Given the description of an element on the screen output the (x, y) to click on. 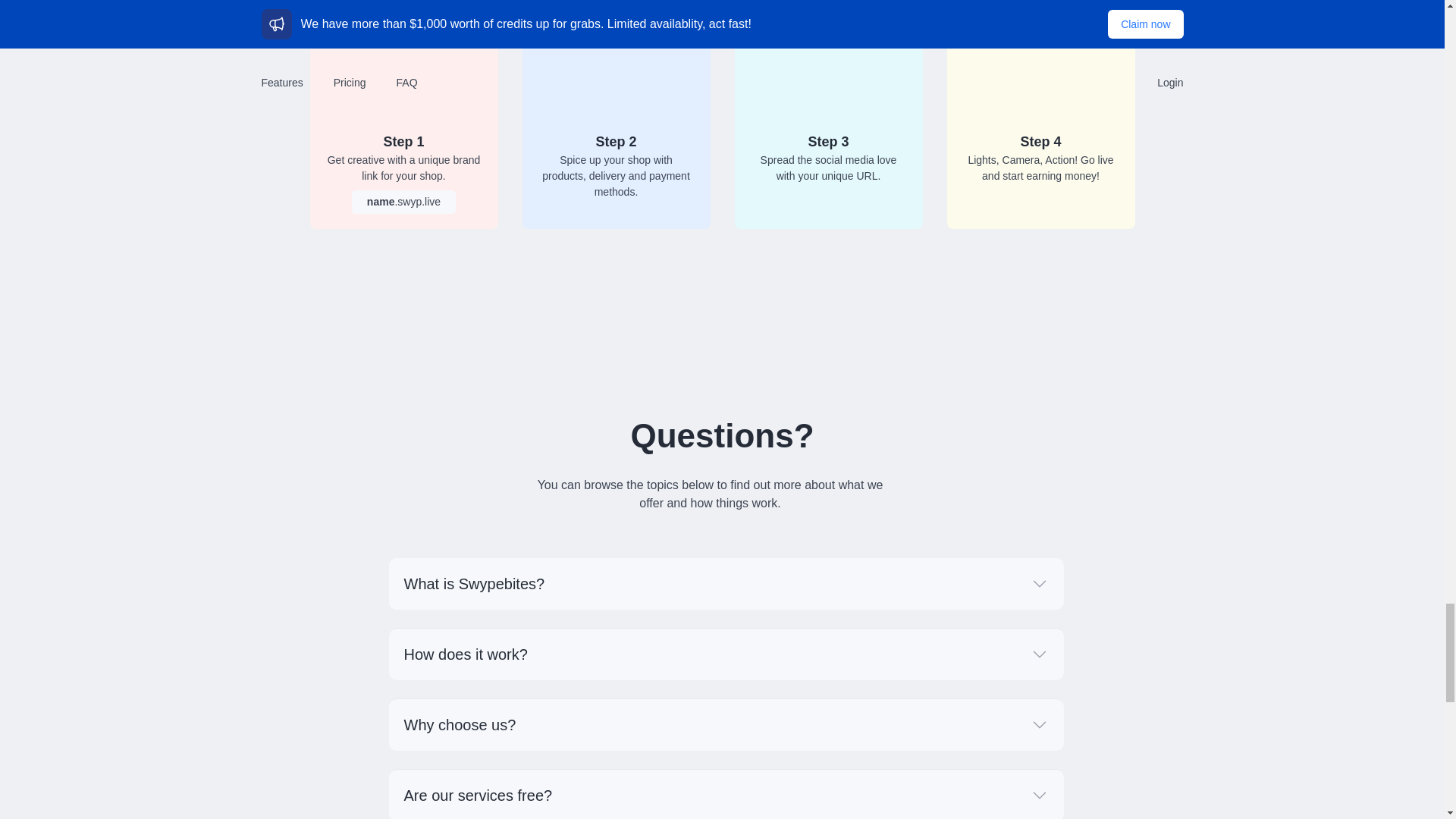
Are our services free? (725, 794)
How does it work? (725, 654)
What is Swypebites? (725, 583)
Why choose us? (725, 725)
